Given the description of an element on the screen output the (x, y) to click on. 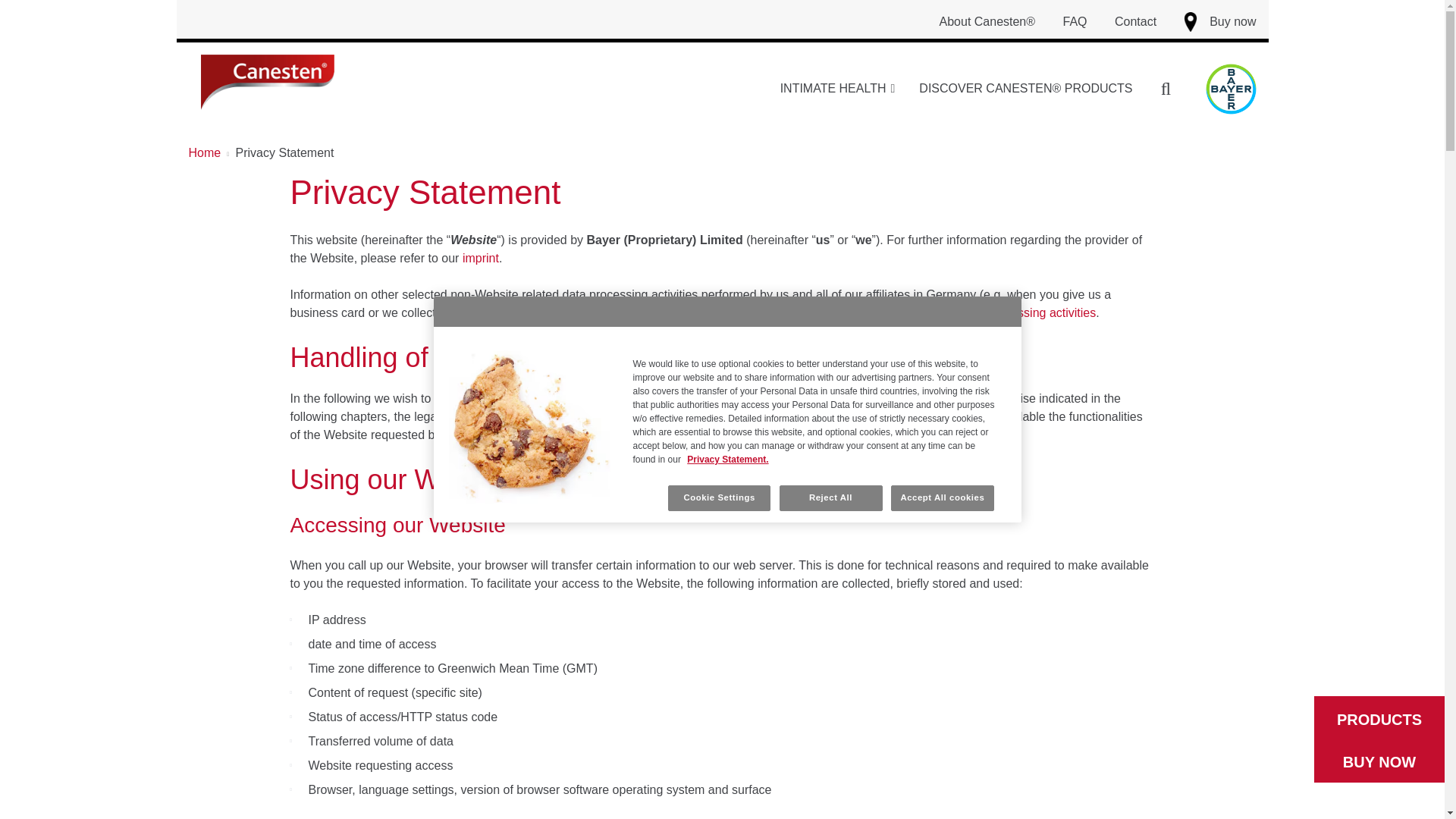
FAQ (1074, 21)
Home (209, 152)
Contact (1135, 21)
buy-now (1189, 21)
imprint (481, 257)
Bayer (1230, 88)
INTIMATE HEALTH (837, 88)
Buy now (1217, 21)
